Given the description of an element on the screen output the (x, y) to click on. 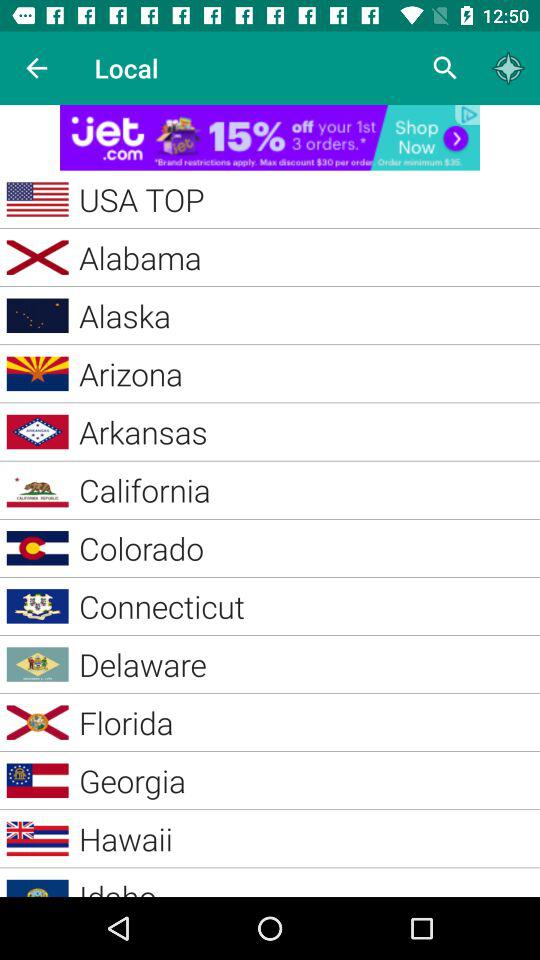
search option (445, 67)
